Given the description of an element on the screen output the (x, y) to click on. 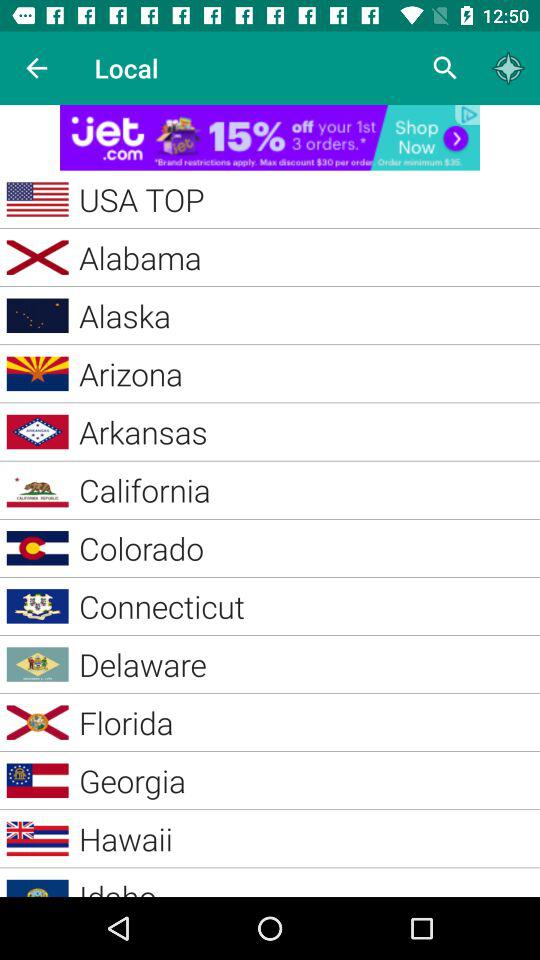
search option (445, 67)
